Given the description of an element on the screen output the (x, y) to click on. 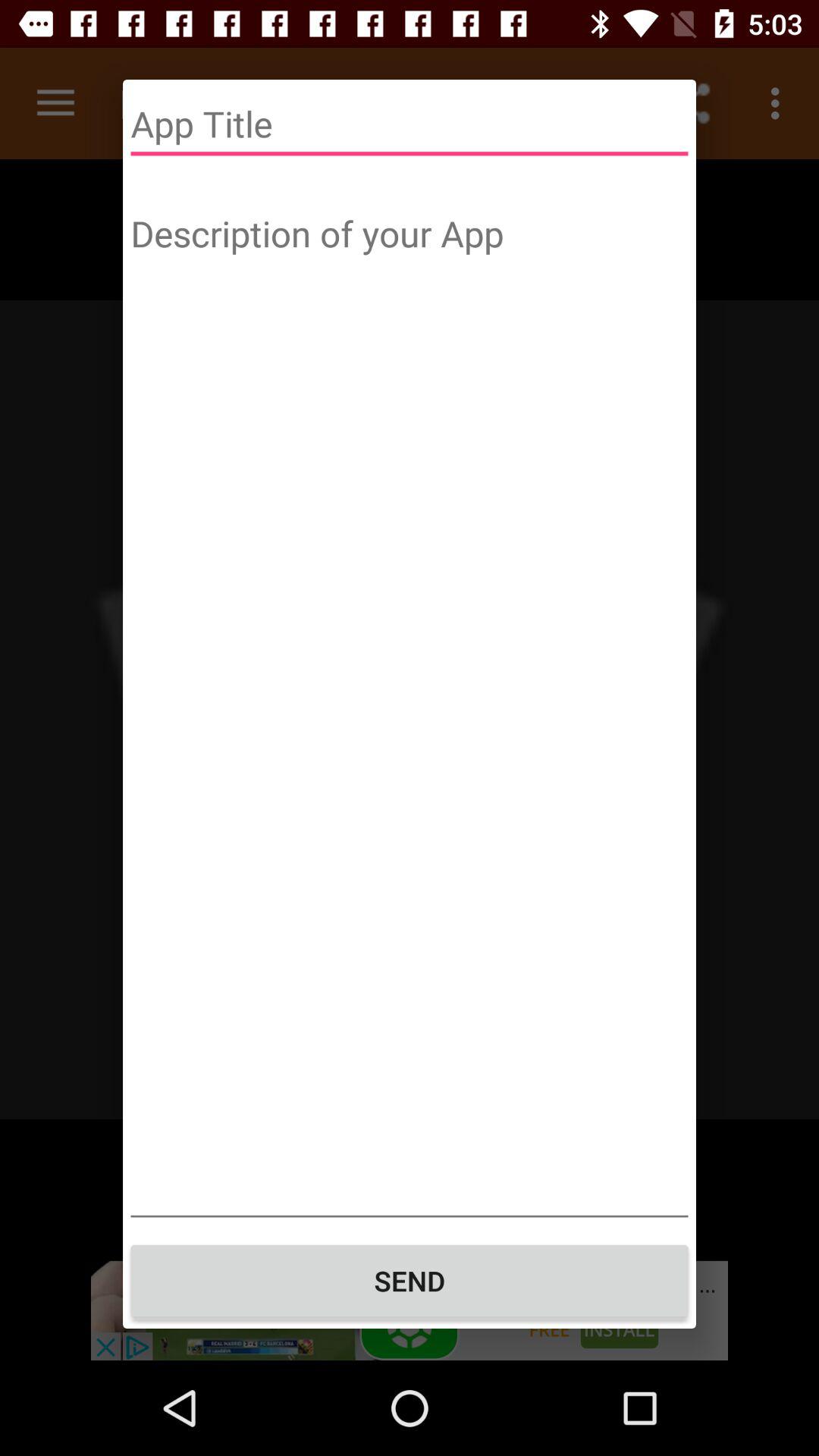
swipe to info@icyarena.com (409, 80)
